Given the description of an element on the screen output the (x, y) to click on. 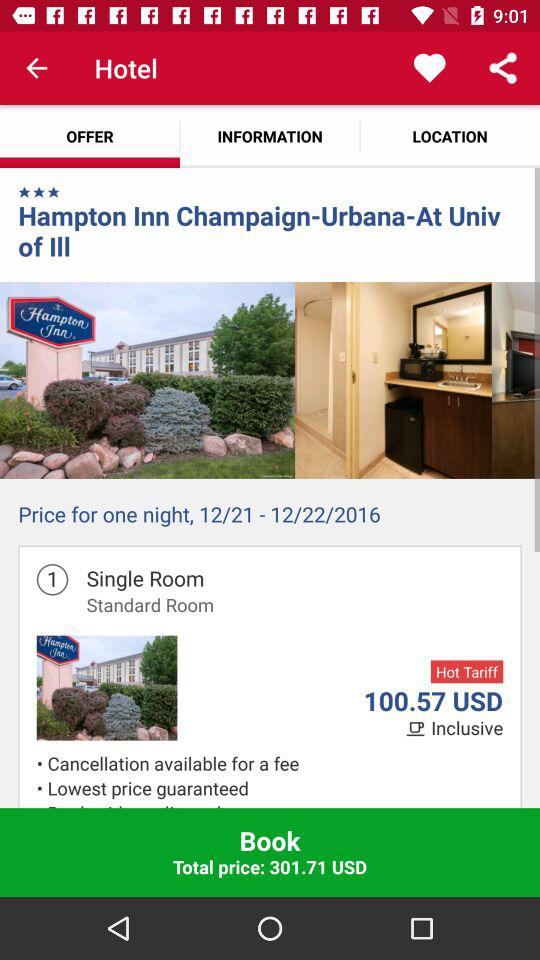
choose item to the left of lowest price guaranteed item (41, 804)
